Given the description of an element on the screen output the (x, y) to click on. 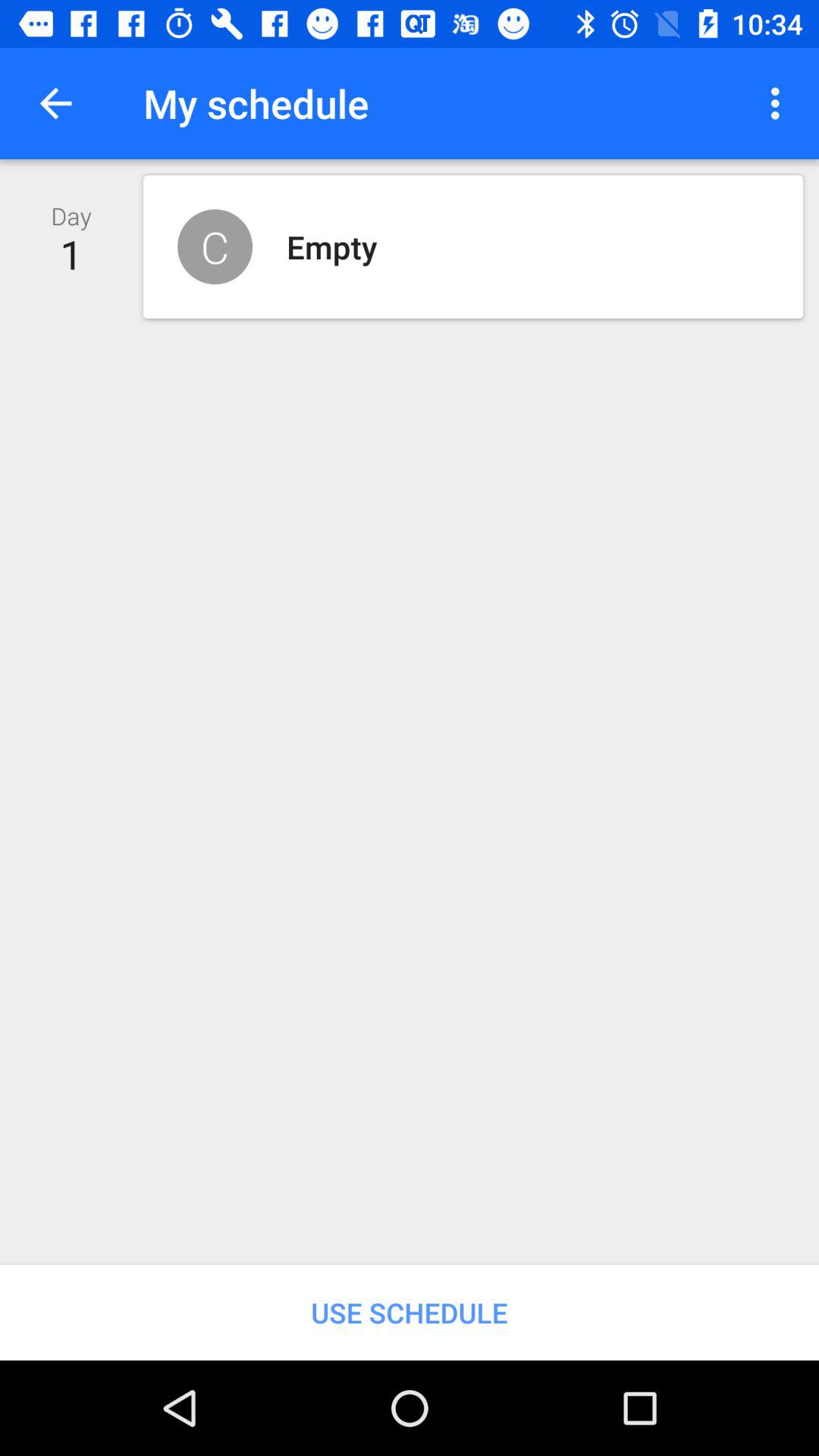
click icon to the left of the my schedule (55, 103)
